Given the description of an element on the screen output the (x, y) to click on. 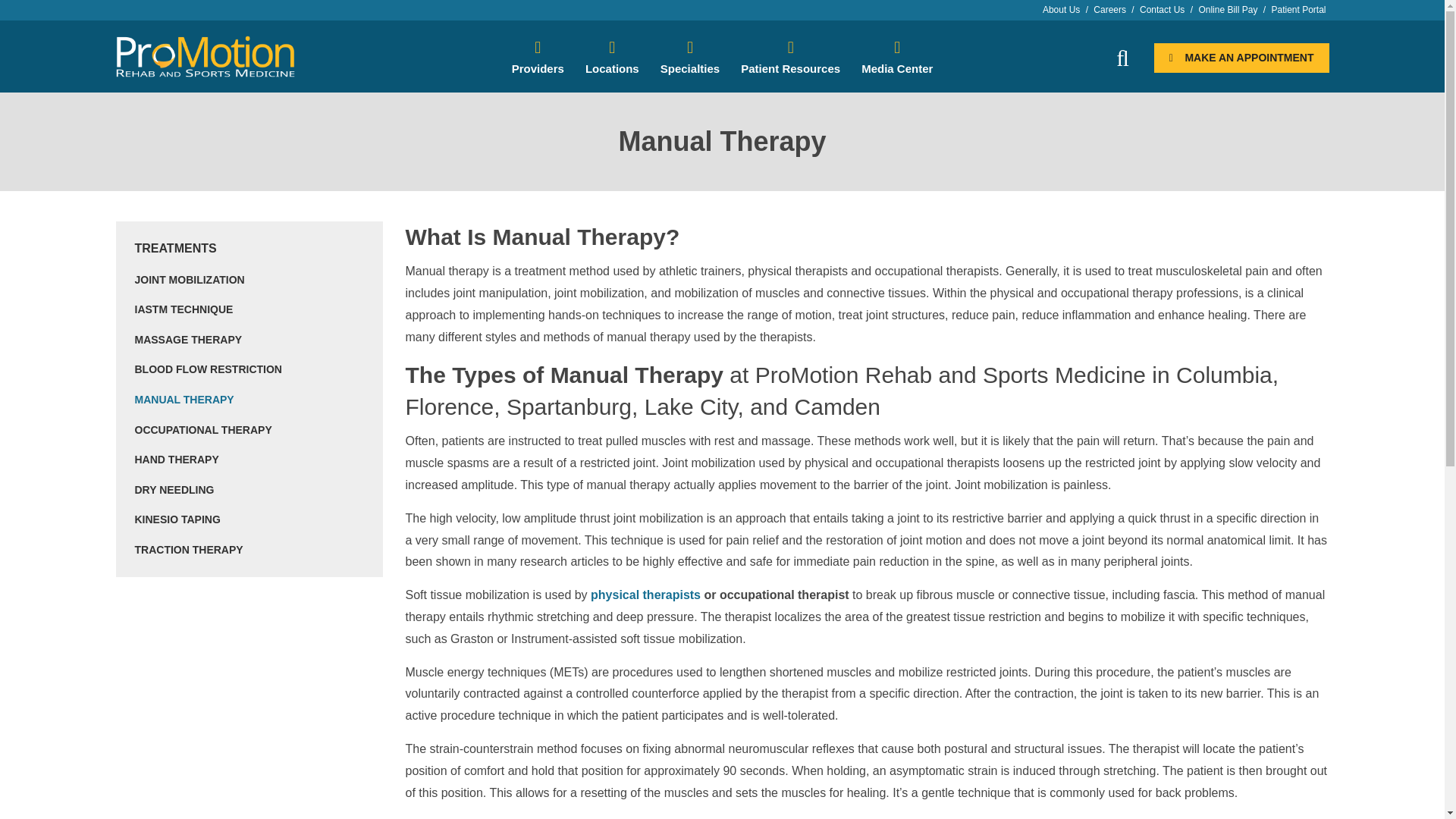
Media Center (896, 57)
Patient Portal (1297, 9)
Contact Us (1162, 9)
About Us (1061, 9)
Patient Resources (790, 57)
Providers (537, 57)
Online Bill Pay (1227, 9)
Locations (612, 57)
Specialties (689, 57)
Careers (1109, 9)
